Given the description of an element on the screen output the (x, y) to click on. 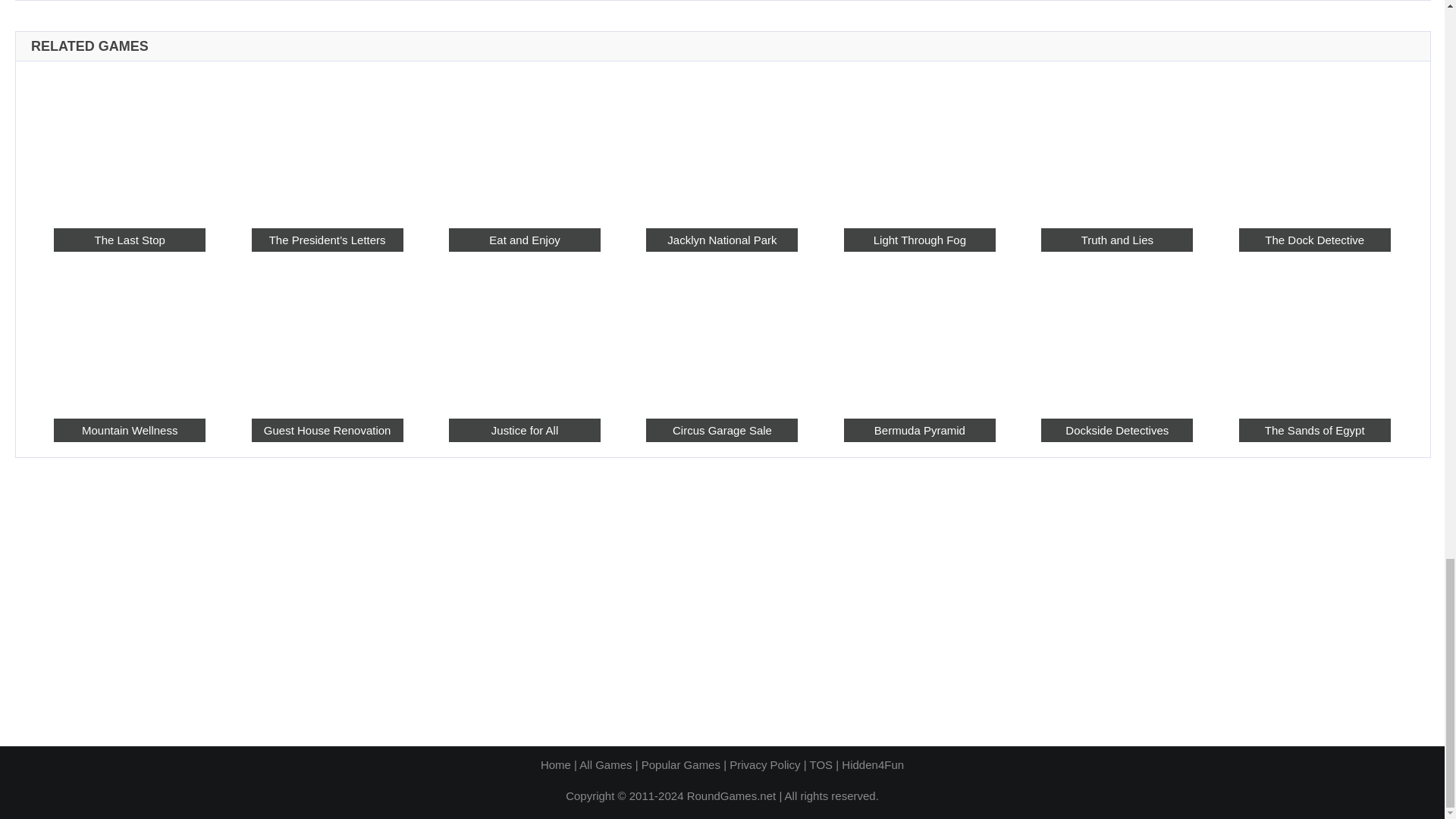
Light Through Fog (919, 143)
Eat and Enjoy (523, 239)
Eat and Enjoy (523, 143)
Jacklyn National Park (721, 239)
Jacklyn National Park (721, 143)
The Last Stop (129, 143)
The Last Stop (129, 239)
Light Through Fog (919, 239)
Truth and Lies (1116, 143)
